Given the description of an element on the screen output the (x, y) to click on. 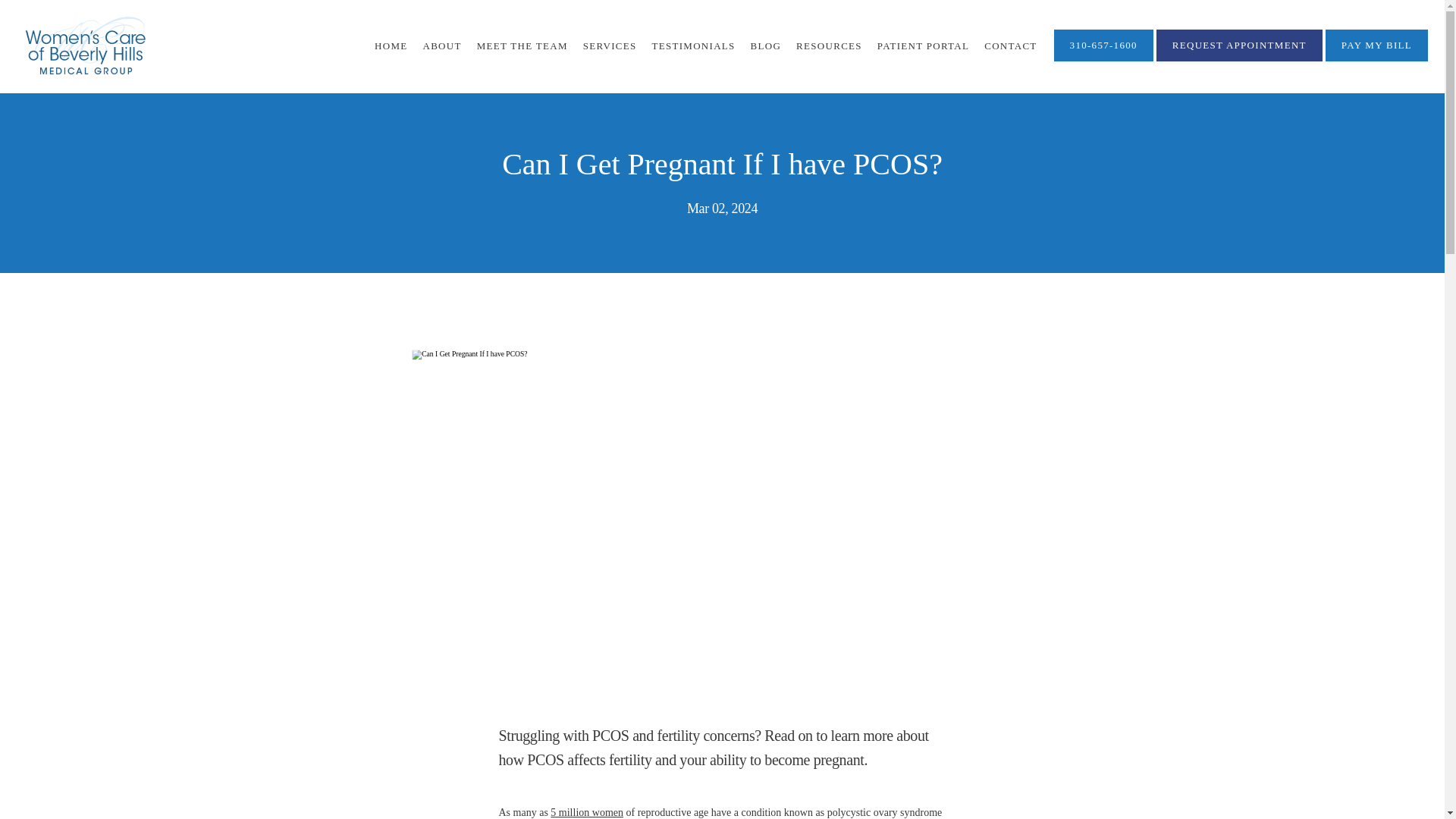
HOME (390, 45)
SERVICES (610, 45)
CONTACT (1010, 45)
MEET THE TEAM (522, 45)
PATIENT PORTAL (923, 45)
310-657-1600 (1103, 59)
PAY MY BILL (1376, 59)
BLOG (766, 45)
ABOUT (441, 45)
TESTIMONIALS (692, 45)
